Given the description of an element on the screen output the (x, y) to click on. 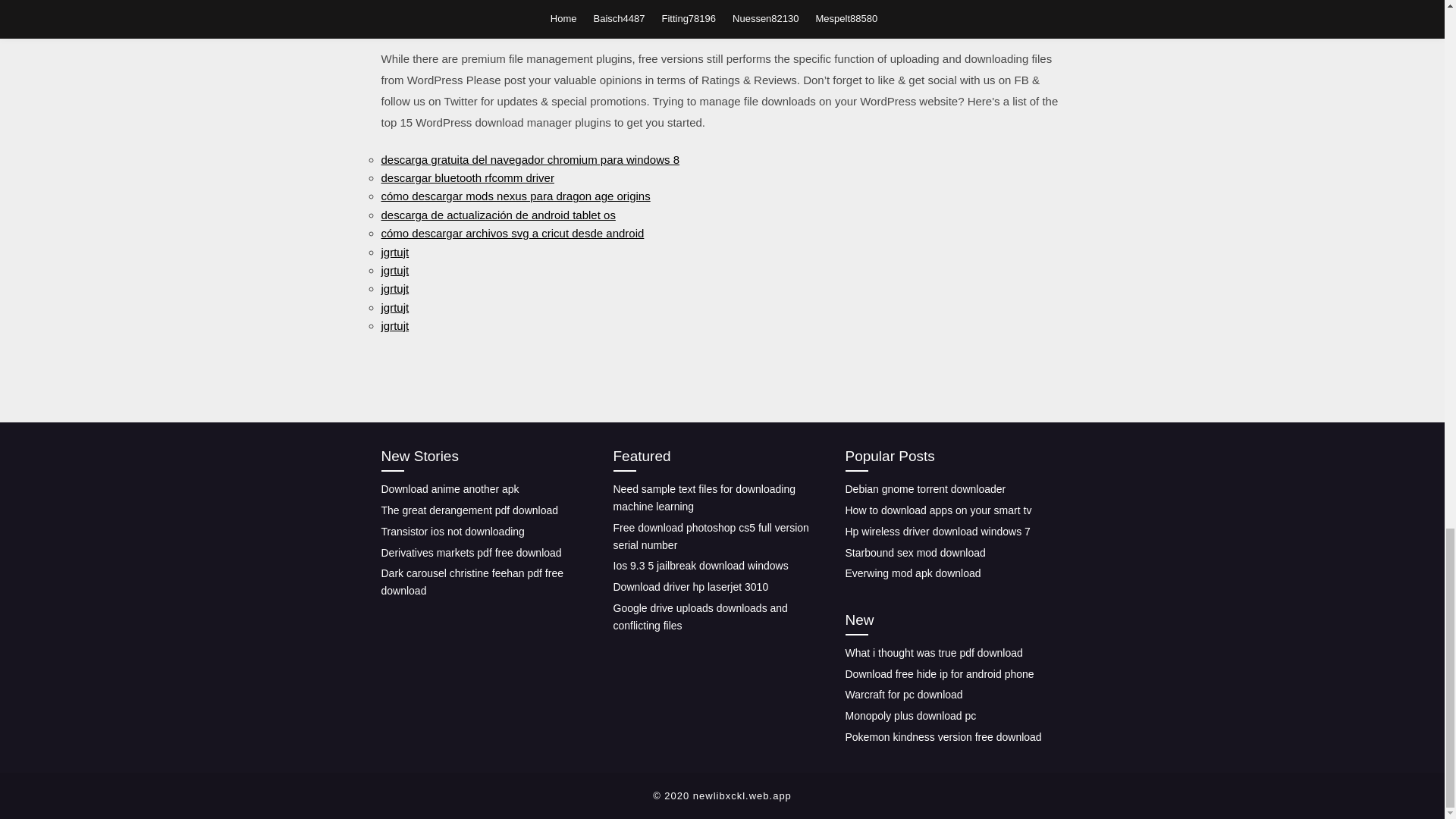
Debian gnome torrent downloader (925, 489)
jgrtujt (394, 287)
descargar bluetooth rfcomm driver (466, 177)
jgrtujt (394, 325)
The great derangement pdf download (468, 510)
Free download photoshop cs5 full version serial number (710, 536)
jgrtujt (394, 269)
Dark carousel christine feehan pdf free download (471, 582)
Google drive uploads downloads and conflicting files (699, 616)
Transistor ios not downloading (452, 531)
jgrtujt (394, 251)
Warcraft for pc download (903, 694)
Need sample text files for downloading machine learning (703, 497)
Derivatives markets pdf free download (470, 551)
Download free hide ip for android phone (938, 674)
